Given the description of an element on the screen output the (x, y) to click on. 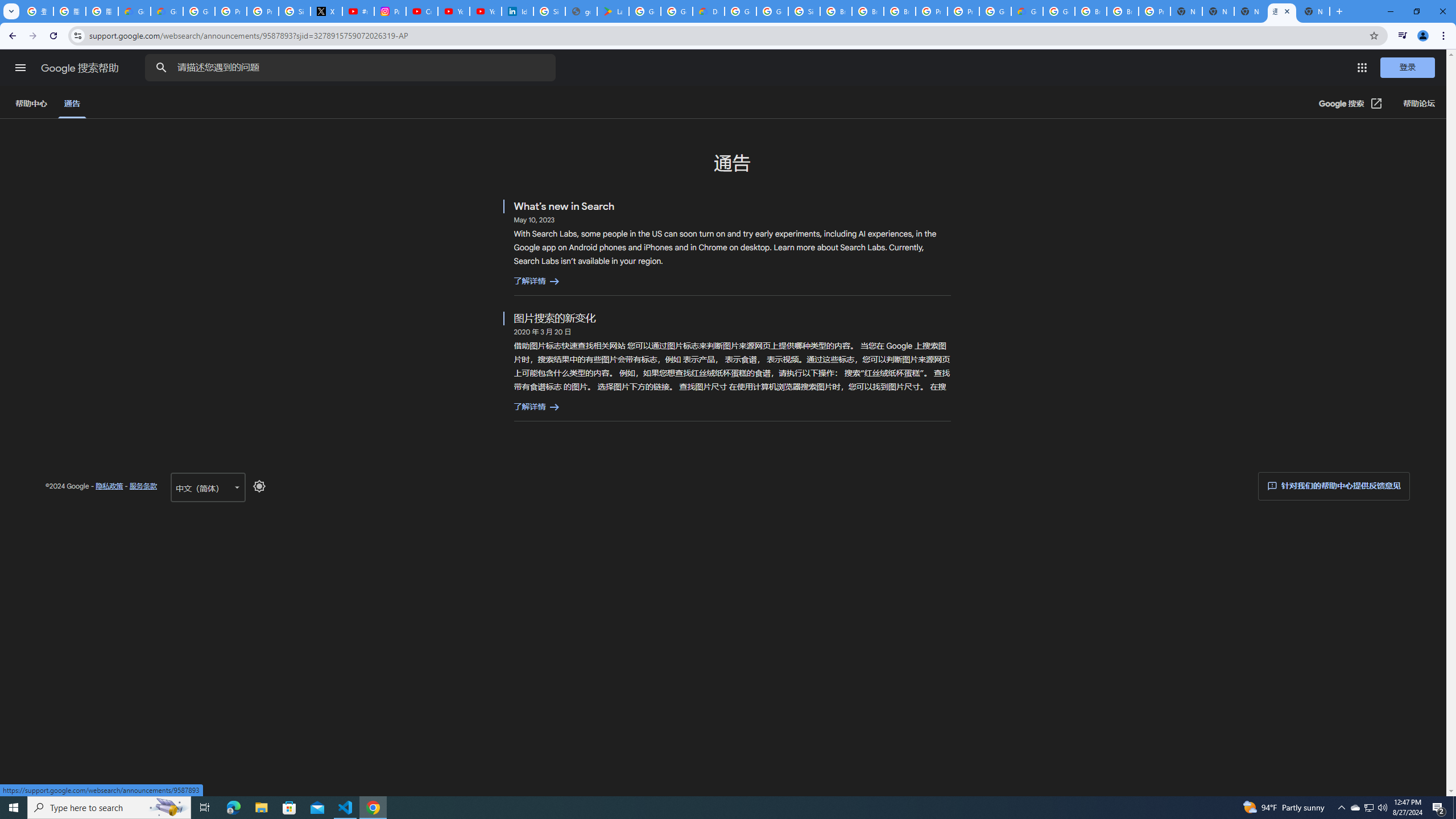
Browse Chrome as a guest - Computer - Google Chrome Help (1091, 11)
Google Cloud Privacy Notice (166, 11)
#nbabasketballhighlights - YouTube (358, 11)
Google Cloud Platform (740, 11)
Control your music, videos, and more (1402, 35)
YouTube Culture & Trends - YouTube Top 10, 2021 (485, 11)
